Given the description of an element on the screen output the (x, y) to click on. 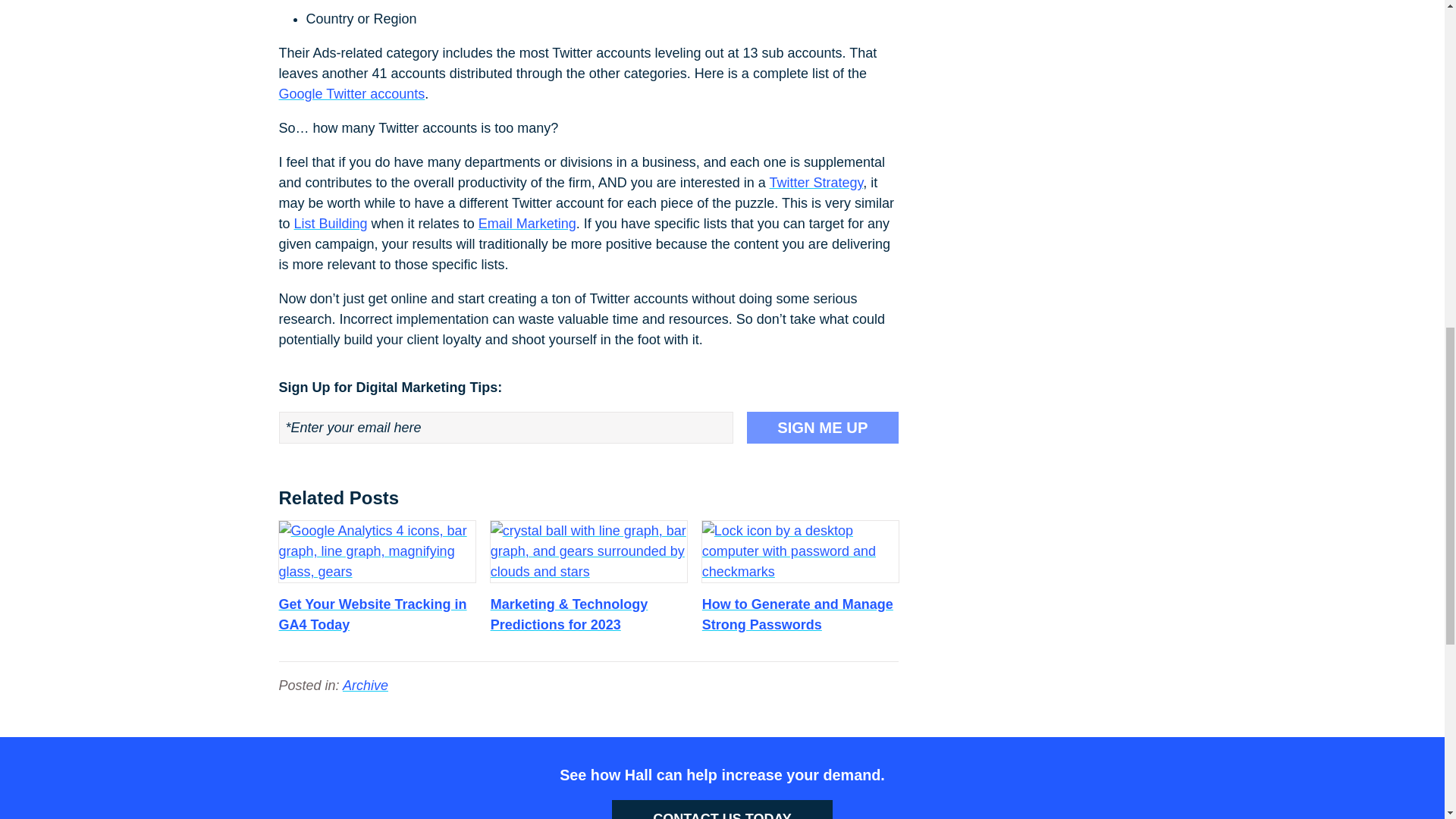
Sign Me Up (822, 427)
List of Google Twitter accounts (352, 93)
Social Network Marketing (816, 182)
